Given the description of an element on the screen output the (x, y) to click on. 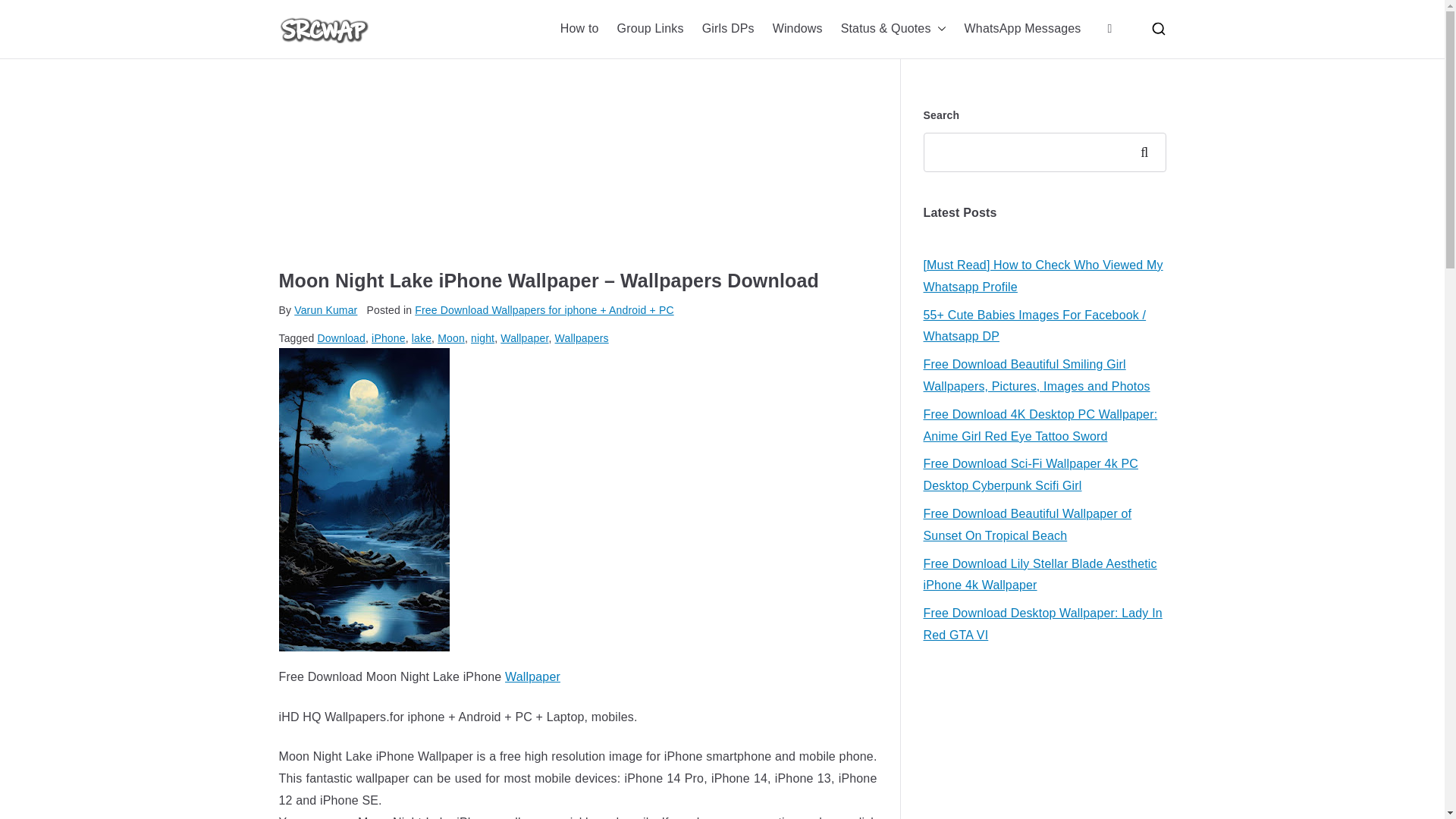
Download (341, 337)
Wallpapers (581, 337)
Whatsapp DP status with quotes (893, 29)
SRCWAP (452, 48)
night (482, 337)
Girls DPs (727, 29)
How to (579, 29)
wallpapers (532, 676)
WhatsApp Messages (1022, 29)
iPhone (388, 337)
Search (26, 12)
Varun Kumar (325, 309)
Wallpaper (524, 337)
Wallpaper (532, 676)
Windows (797, 29)
